Given the description of an element on the screen output the (x, y) to click on. 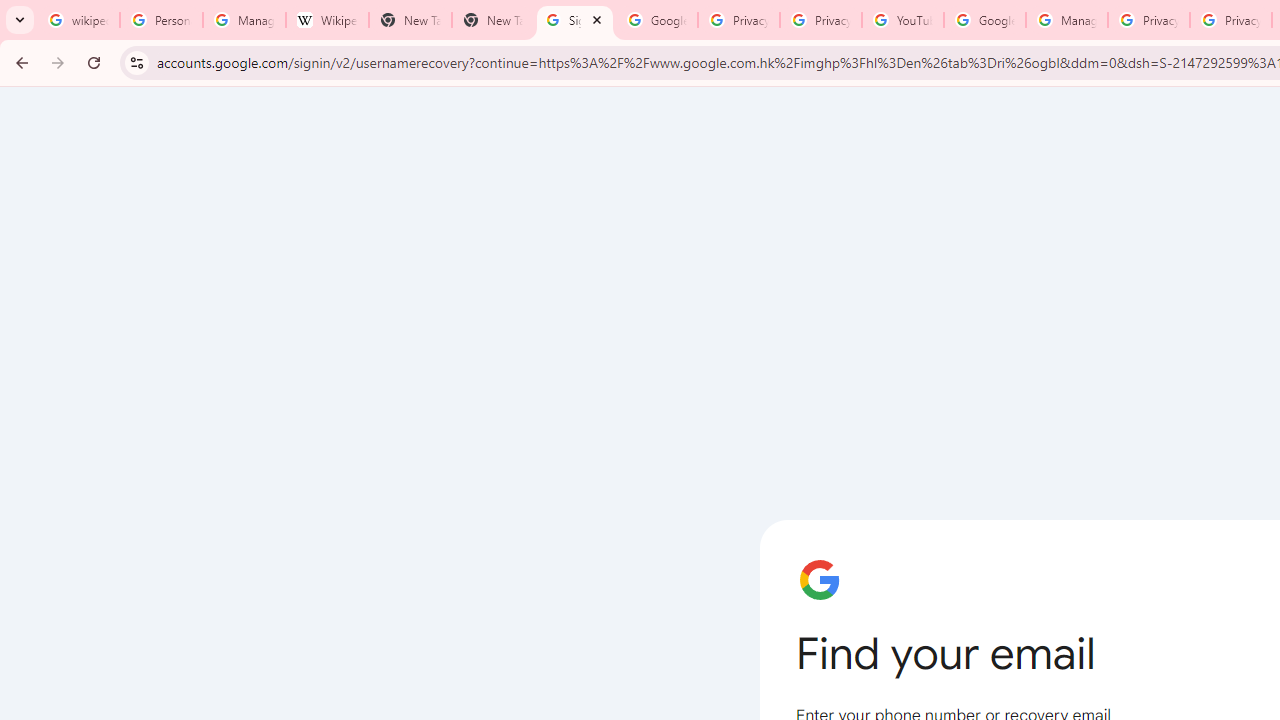
New Tab (492, 20)
Personalization & Google Search results - Google Search Help (161, 20)
Google Drive: Sign-in (656, 20)
Sign in - Google Accounts (574, 20)
New Tab (409, 20)
